Given the description of an element on the screen output the (x, y) to click on. 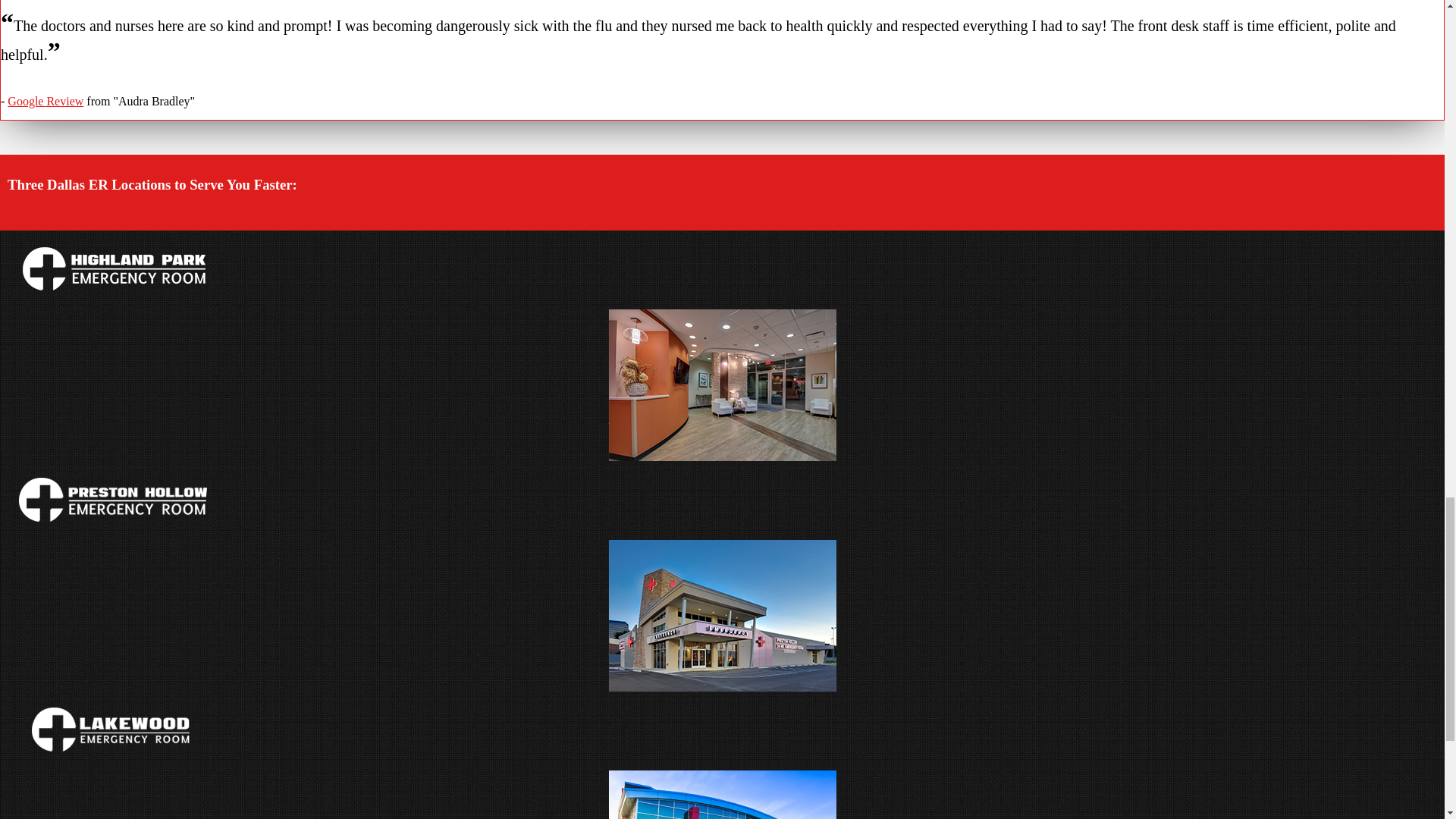
Call Now (631, 418)
Call Now (631, 648)
View On Map (693, 648)
Google Review (44, 101)
View On Map (693, 418)
